Given the description of an element on the screen output the (x, y) to click on. 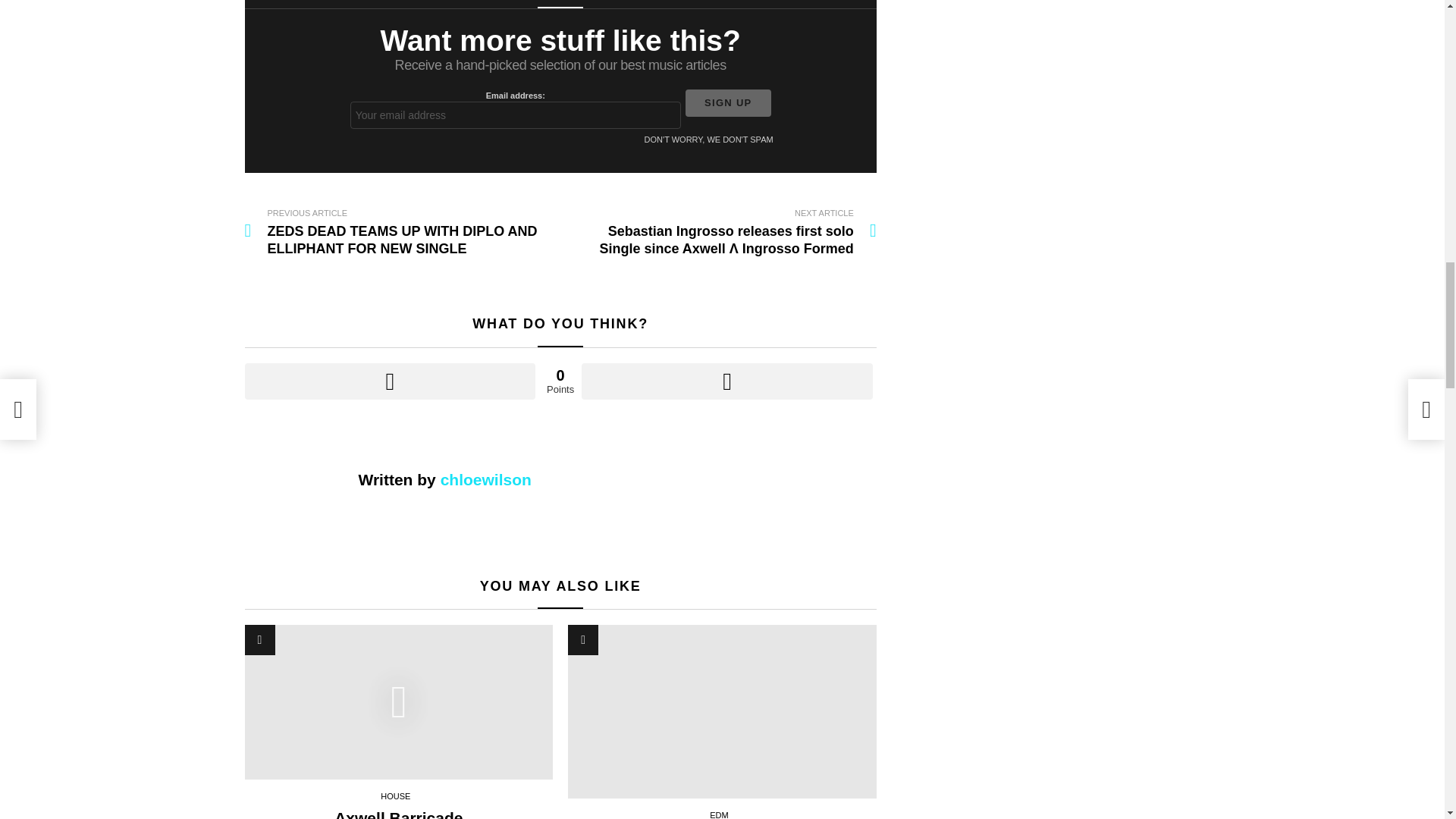
Sign up (728, 103)
HOUSE (398, 795)
Axwell Barricade (398, 701)
Downvote (726, 381)
Popular (259, 639)
Sign up (728, 103)
Hot (582, 639)
Hot (582, 639)
Upvote (389, 381)
Upvote (389, 381)
Axwell Barricade (398, 814)
Downvote (726, 381)
EDM (721, 813)
chloewilson (486, 479)
